Given the description of an element on the screen output the (x, y) to click on. 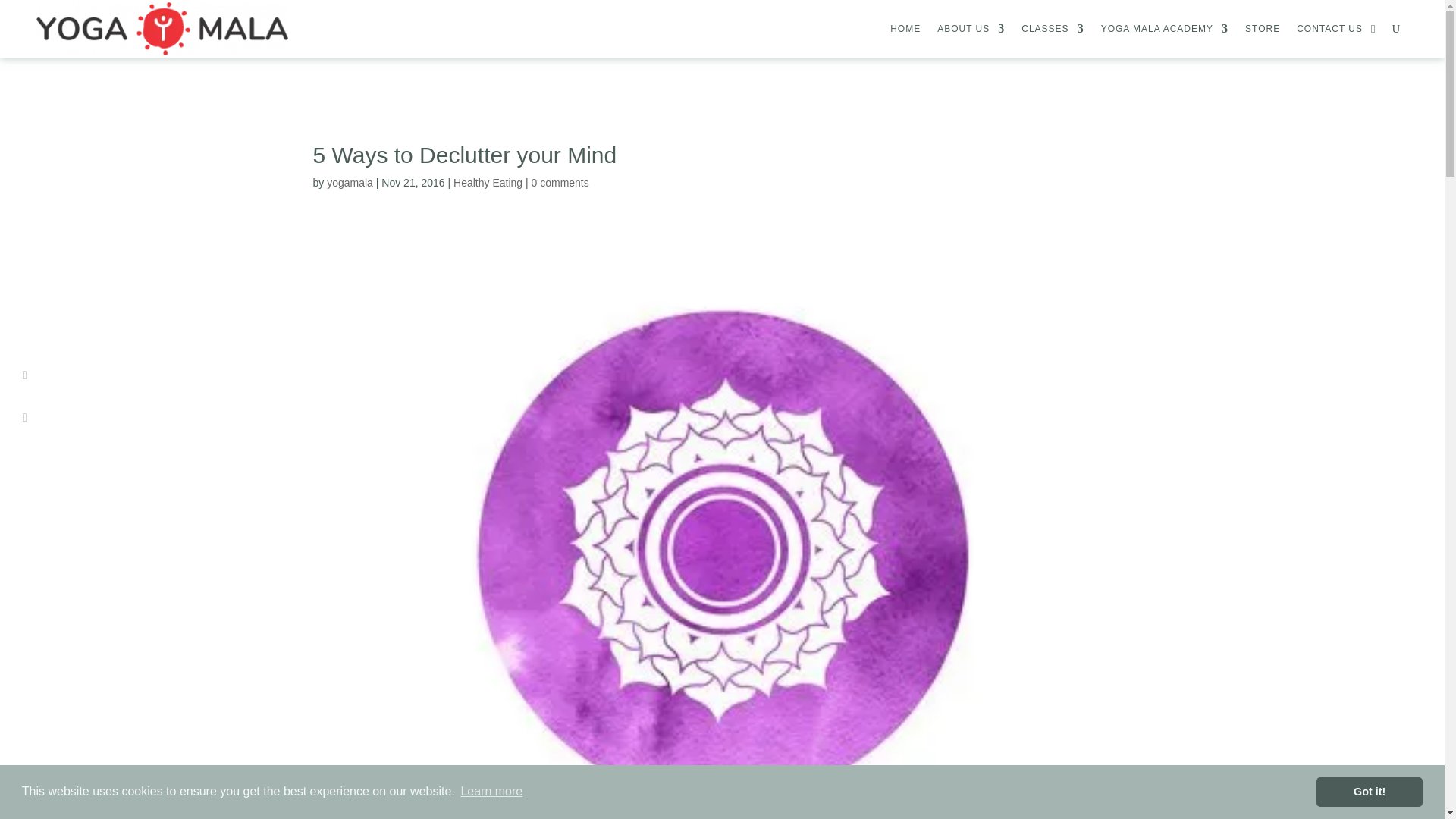
YOGA MALA ACADEMY (1164, 28)
CLASSES (1052, 28)
ABOUT US (970, 28)
Got it! (1369, 791)
Learn more (491, 791)
Posts by yogamala (349, 182)
CONTACT US (1329, 28)
STORE (1261, 28)
HOME (904, 28)
